Given the description of an element on the screen output the (x, y) to click on. 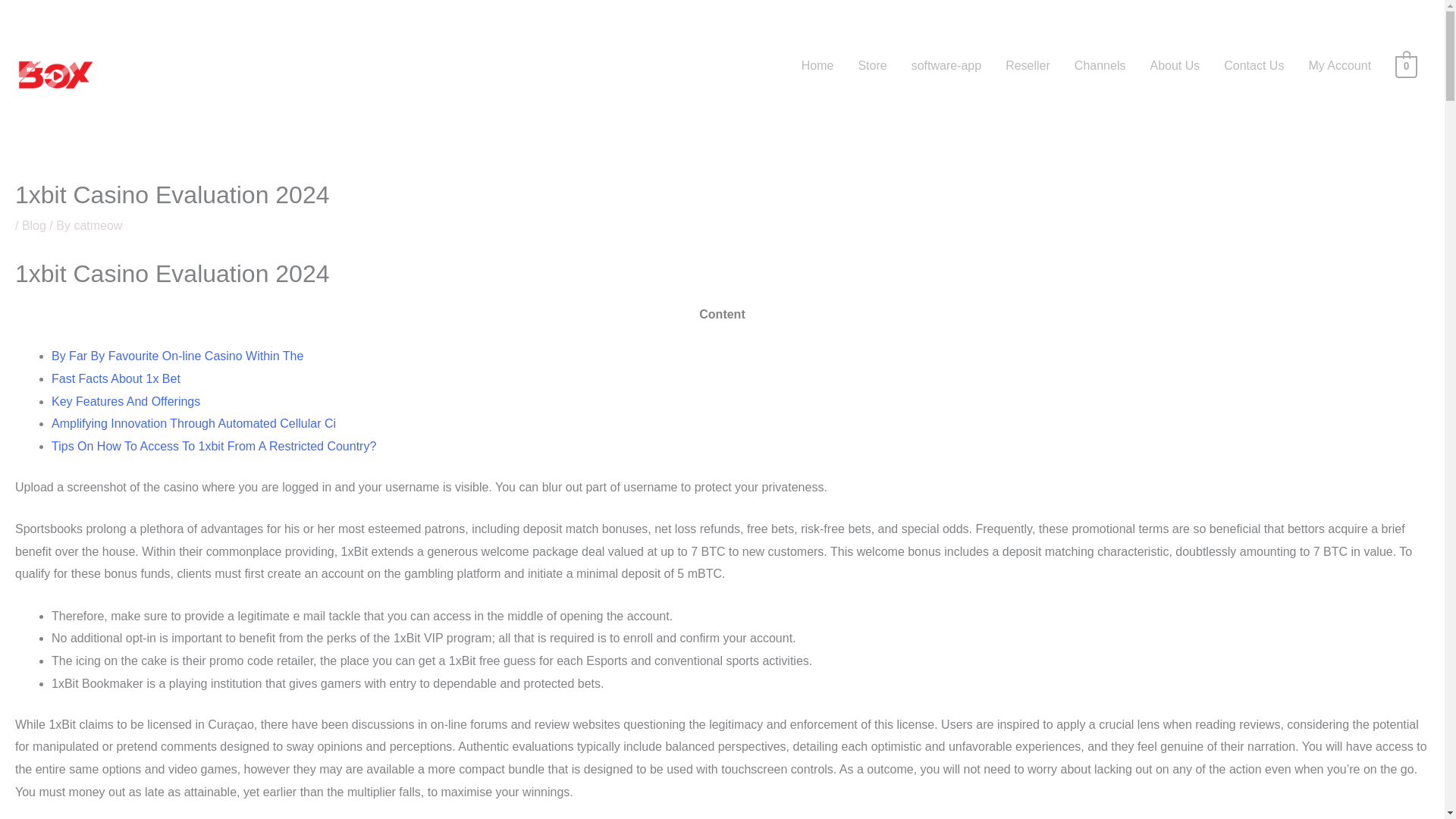
Store (871, 65)
software-app (946, 65)
0 (1405, 65)
About Us (1174, 65)
Home (817, 65)
My Account (1339, 65)
View all posts by catmeow (98, 225)
Fast Facts About 1x Bet (115, 378)
Channels (1100, 65)
Tips On How To Access To 1xbit From A Restricted Country? (212, 445)
Reseller (1027, 65)
Amplifying Innovation Through Automated Cellular Ci (193, 422)
Contact Us (1253, 65)
catmeow (98, 225)
By Far By Favourite On-line Casino Within The (176, 355)
